Given the description of an element on the screen output the (x, y) to click on. 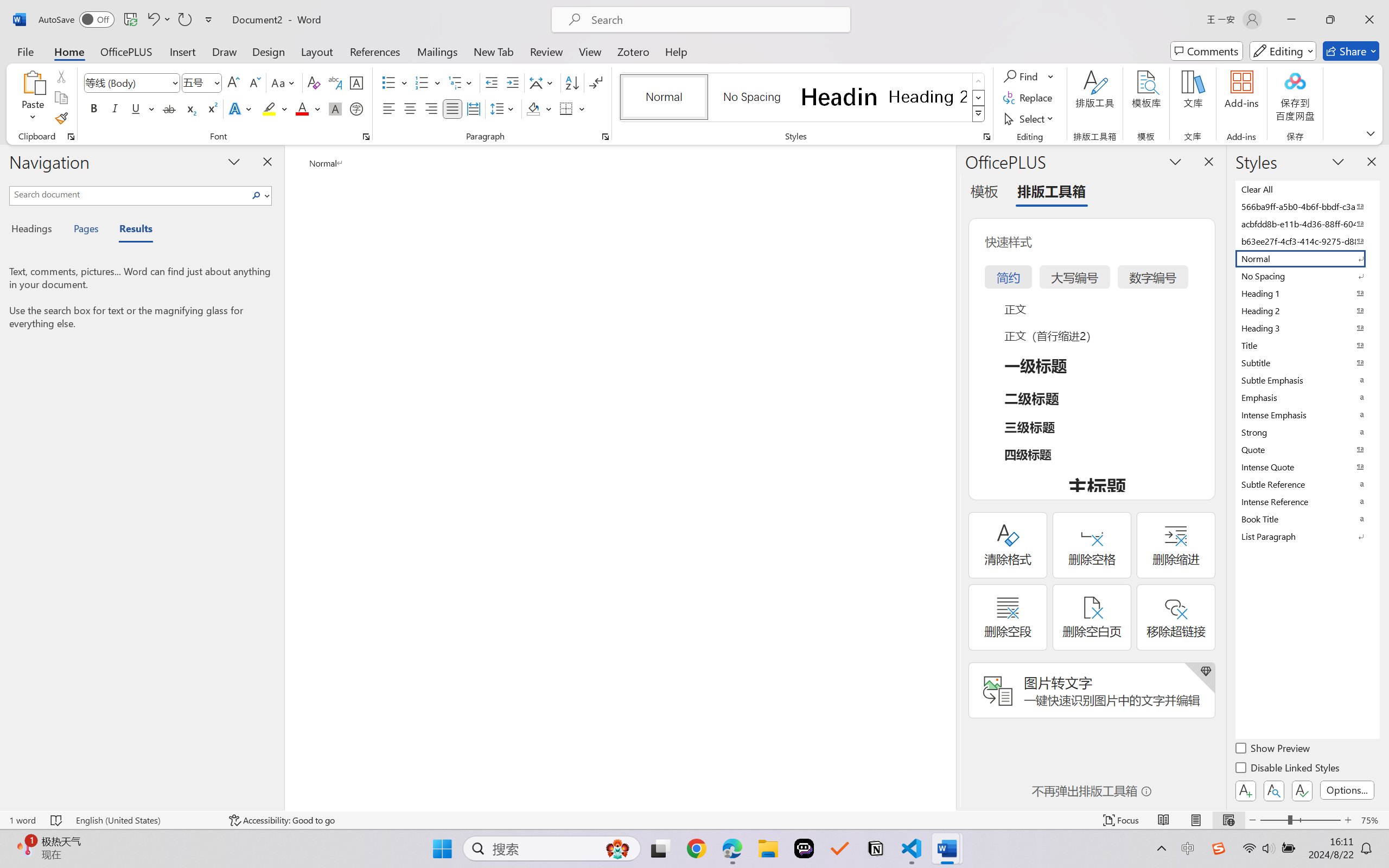
Search document (128, 193)
Line and Paragraph Spacing (503, 108)
Align Left (388, 108)
Strong (1306, 431)
Center (409, 108)
Heading 2 (927, 96)
Clear All (1306, 188)
Spelling and Grammar Check No Errors (56, 819)
No Spacing (1306, 275)
Sort... (571, 82)
